Given the description of an element on the screen output the (x, y) to click on. 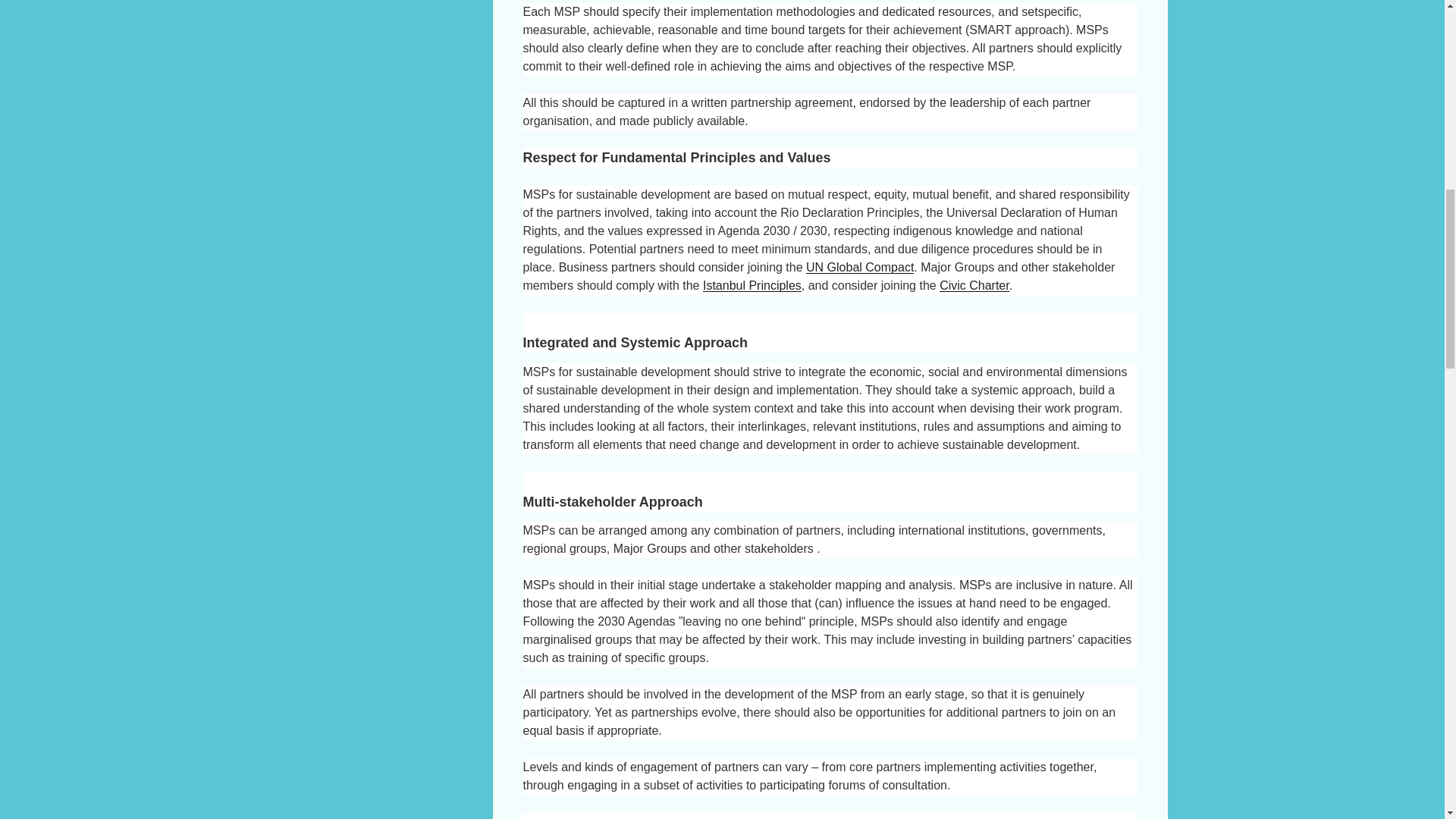
Civic Charter (974, 285)
Istanbul Principles (752, 285)
UN Global Compact (860, 267)
